Given the description of an element on the screen output the (x, y) to click on. 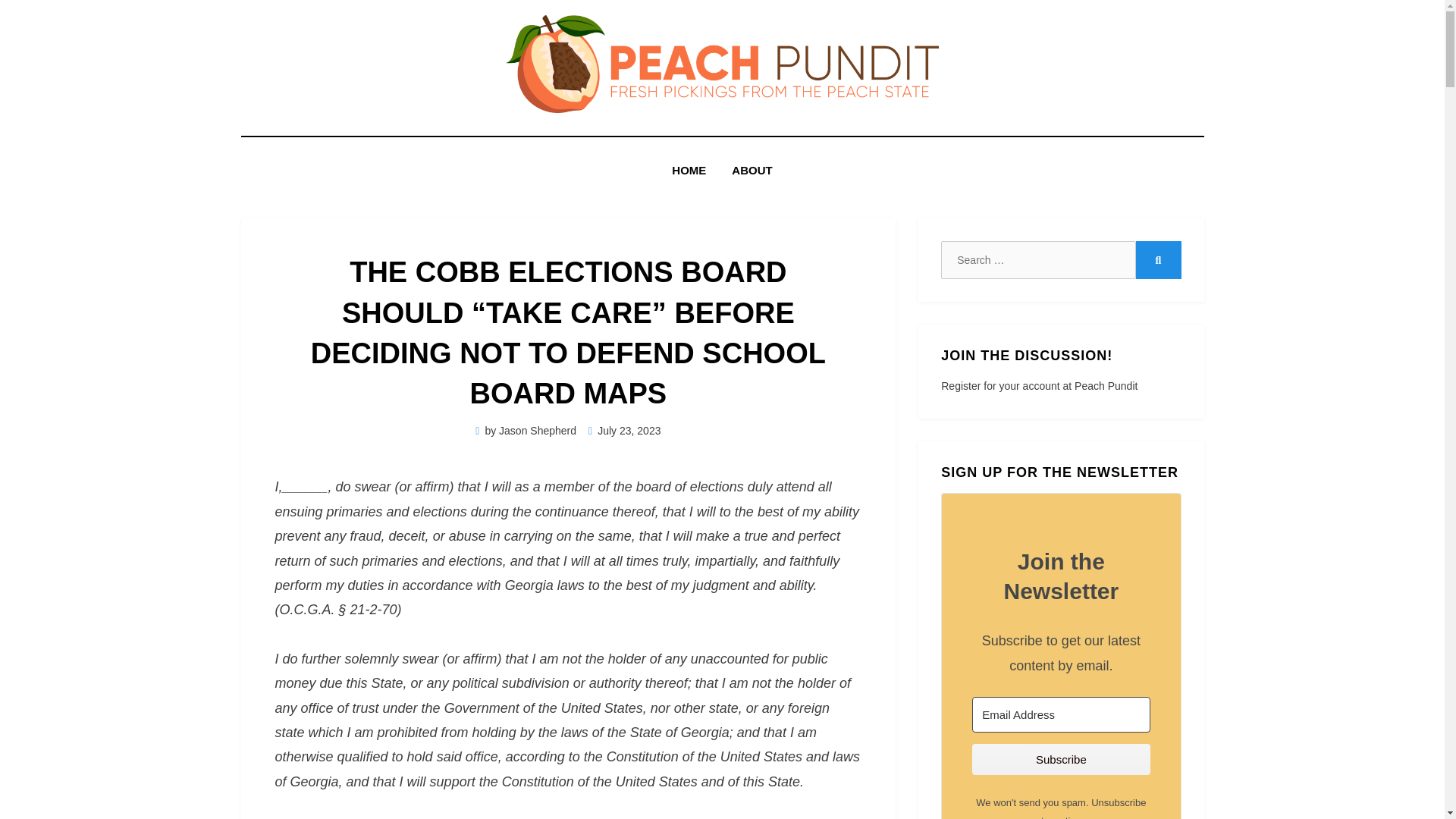
HOME (689, 169)
Jason Shepherd (537, 430)
Register for your account at Peach Pundit (1038, 386)
ABOUT (751, 169)
Search for: (1037, 259)
July 23, 2023 (624, 430)
Subscribe (1061, 758)
Search (1157, 259)
